Given the description of an element on the screen output the (x, y) to click on. 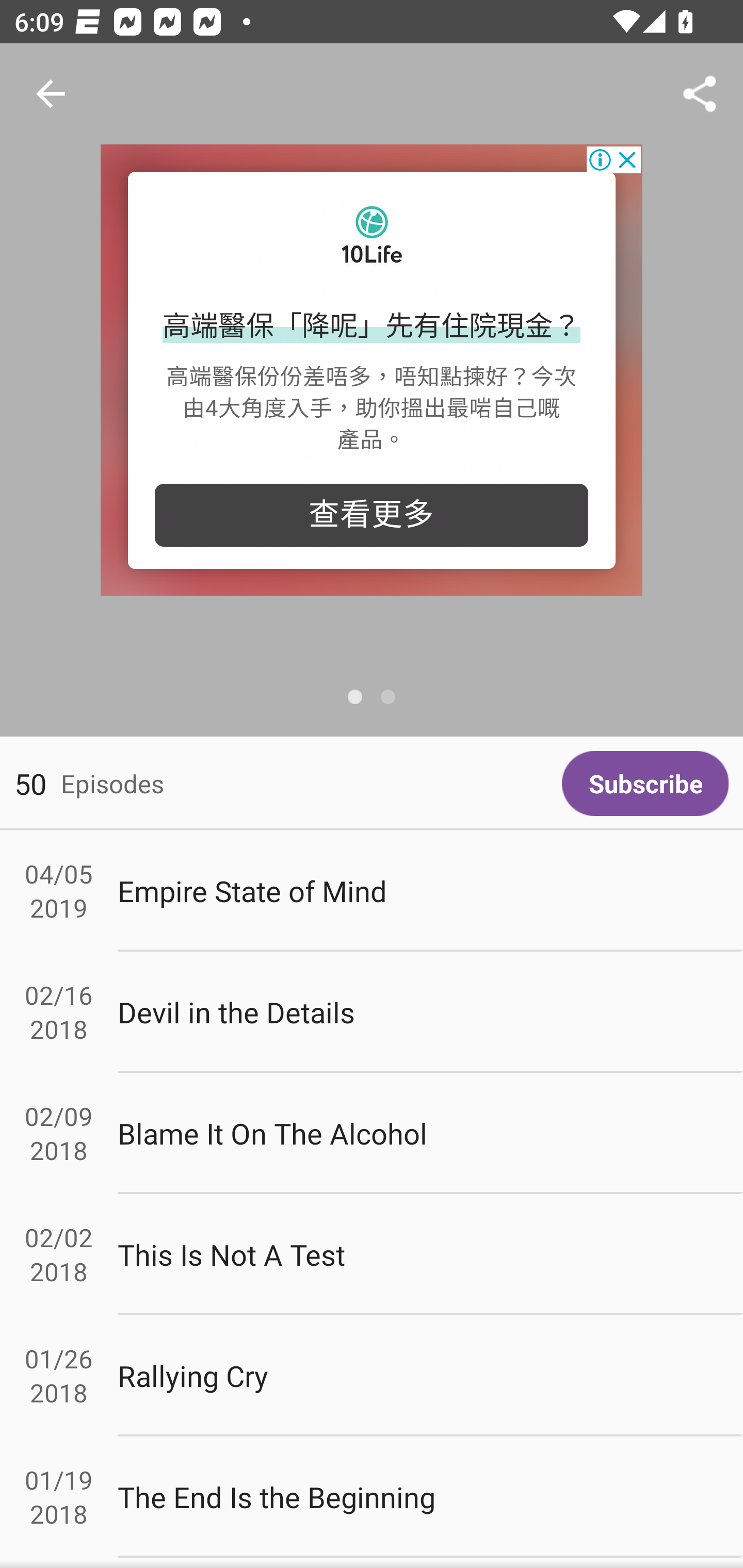
Navigate up (50, 93)
Share... (699, 93)
高端醫保「降呢」先有住院現金？ (371, 327)
查看更多 (371, 514)
Subscribe (644, 783)
04/05 2019 Empire State of Mind (371, 891)
02/16 2018 Devil in the Details (371, 1011)
02/09 2018 Blame It On The Alcohol (371, 1133)
02/02 2018 This Is Not A Test (371, 1254)
01/26 2018 Rallying Cry (371, 1375)
01/19 2018 The End Is the Beginning (371, 1496)
